Given the description of an element on the screen output the (x, y) to click on. 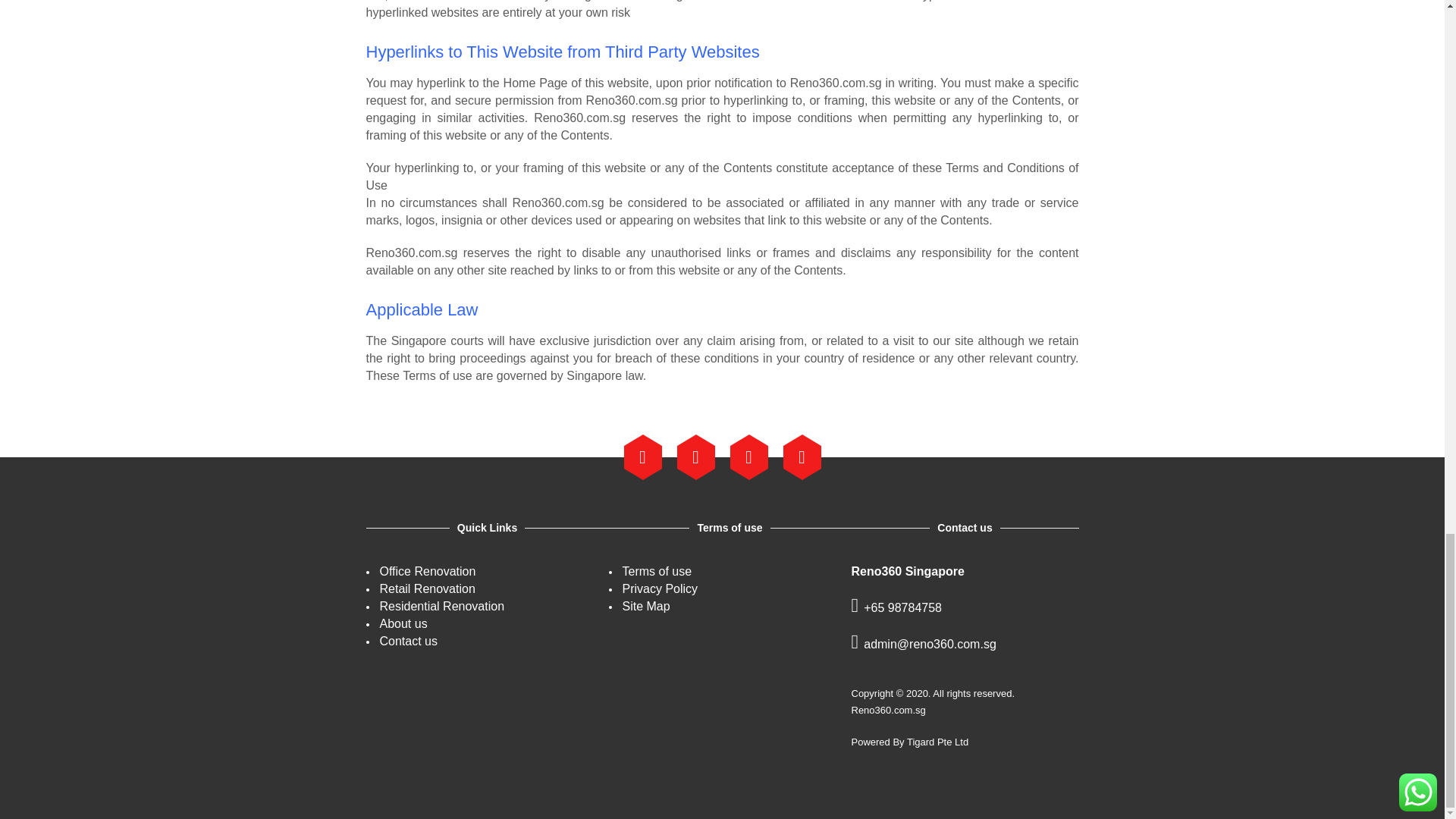
Privacy Policy (659, 589)
Contact (407, 640)
Retail (426, 588)
Terms of use (656, 572)
Office (427, 571)
Residential (440, 605)
Reno360 Singapore (887, 709)
Site Map (645, 606)
About us (402, 623)
